Given the description of an element on the screen output the (x, y) to click on. 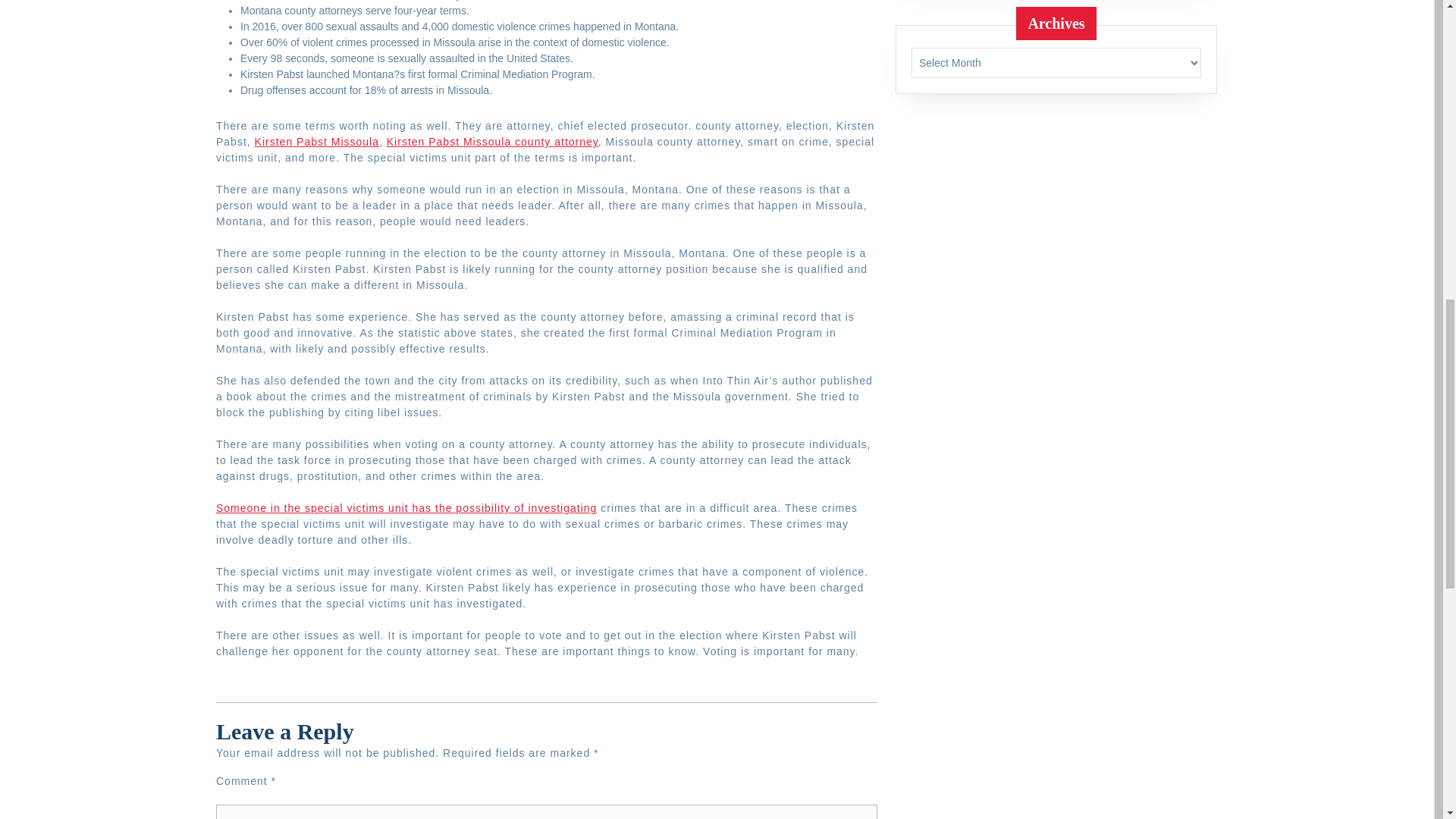
Link this (492, 141)
more like this (316, 141)
Kirsten Pabst Missoula (316, 141)
For the real scoop on Election (405, 508)
Kirsten Pabst Missoula county attorney (492, 141)
